Given the description of an element on the screen output the (x, y) to click on. 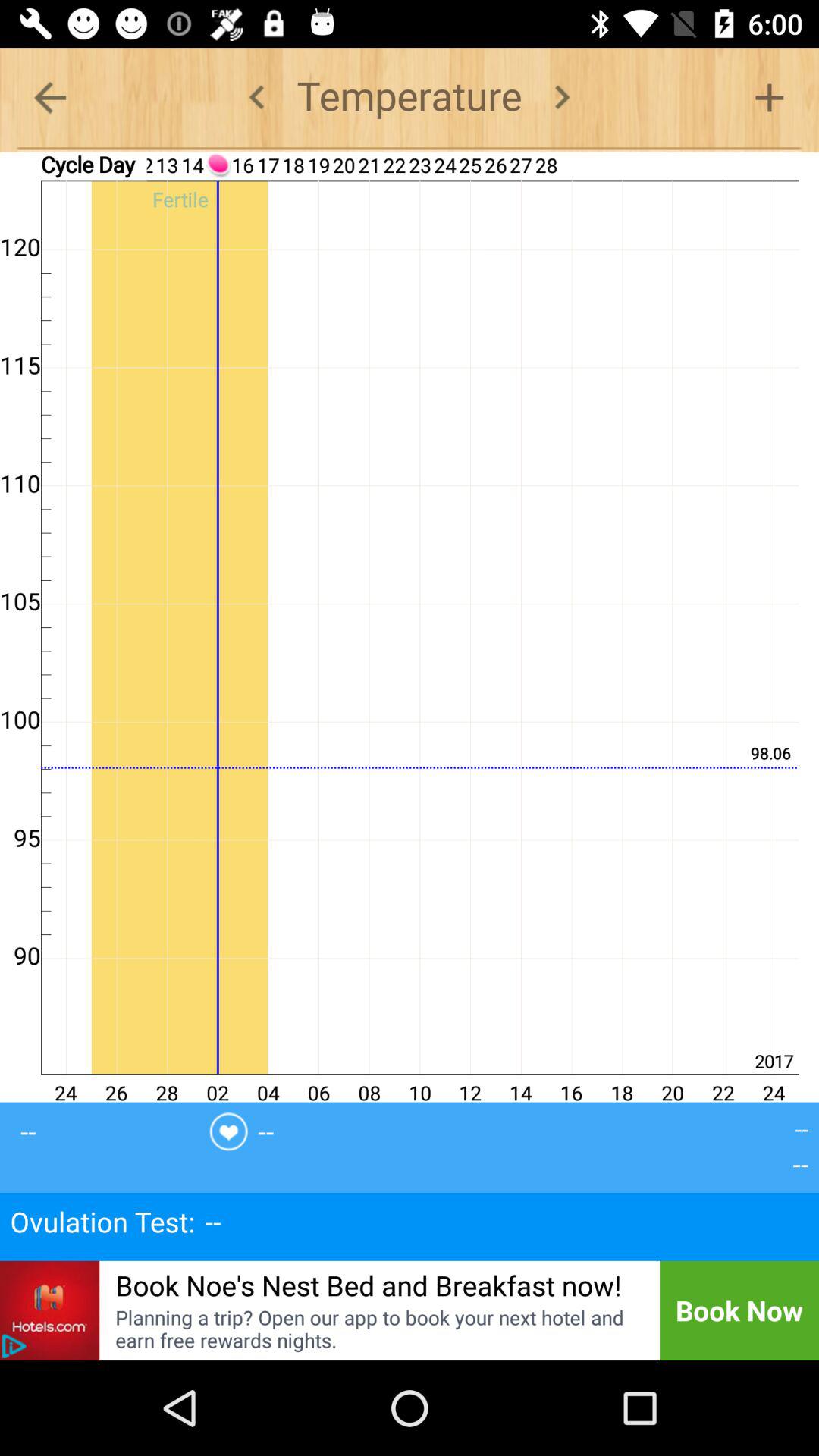
choose item below book noe s item (377, 1329)
